Given the description of an element on the screen output the (x, y) to click on. 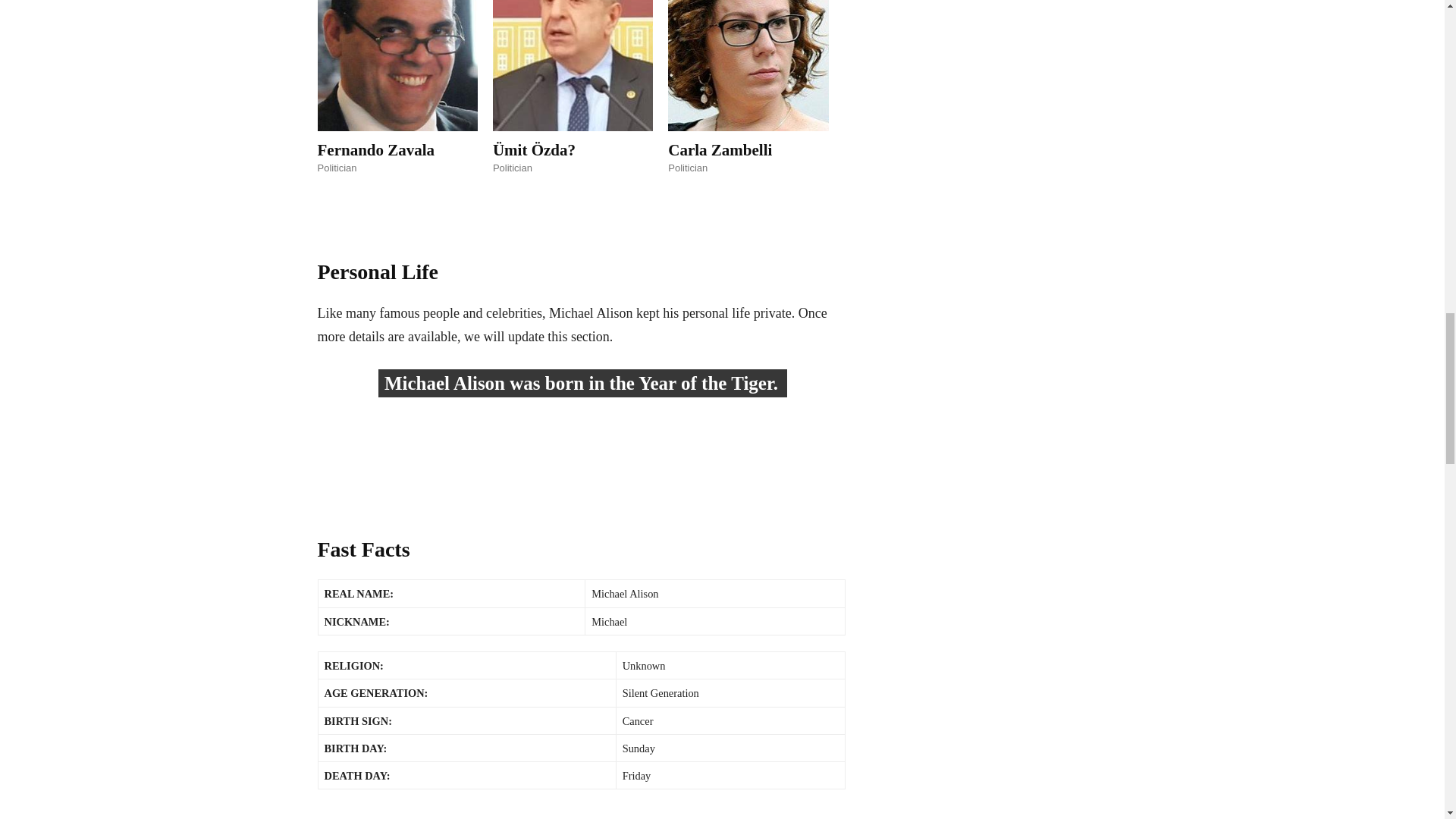
Fernando Zavala (375, 149)
